Given the description of an element on the screen output the (x, y) to click on. 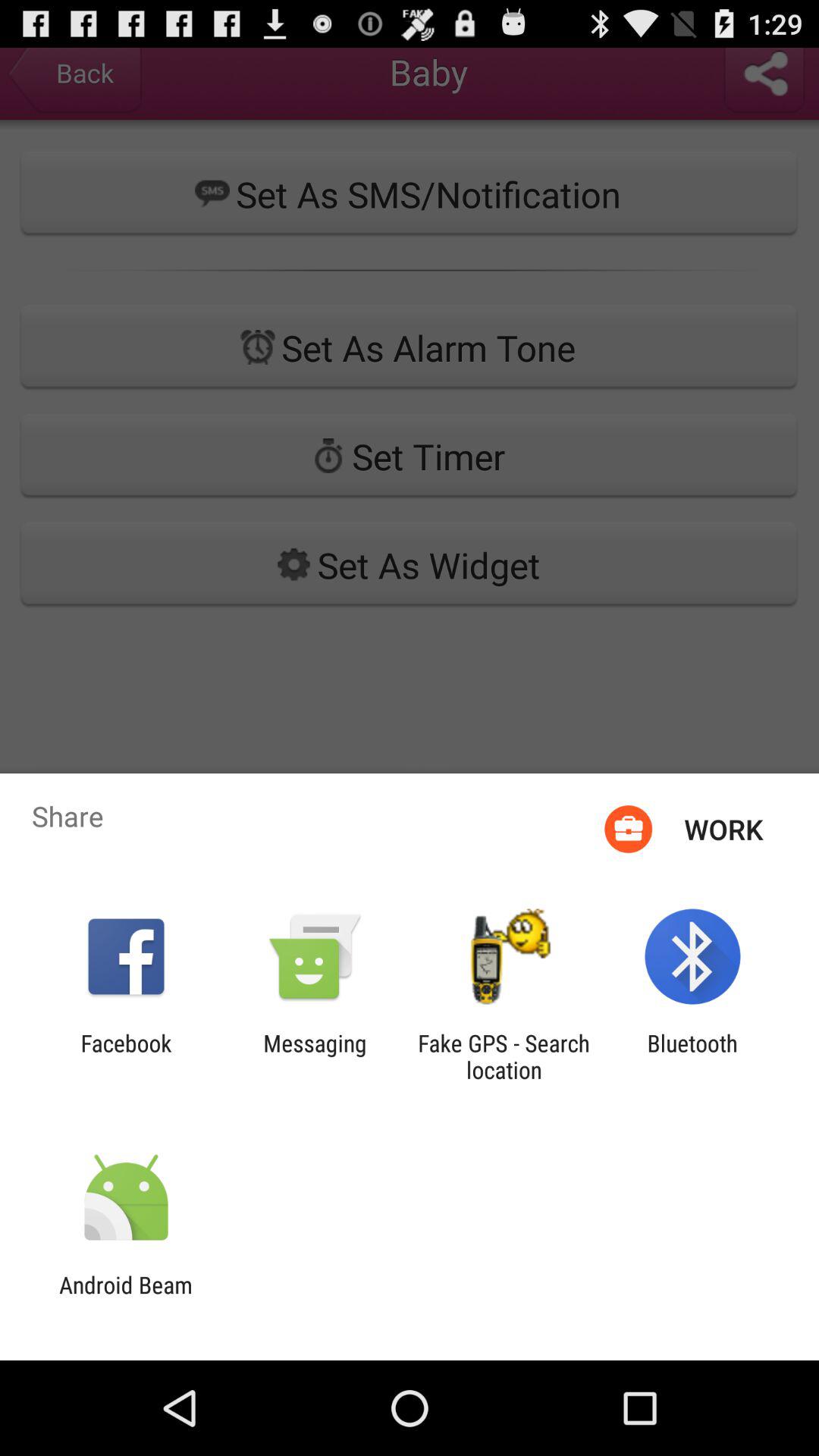
open the item next to fake gps search app (692, 1056)
